Given the description of an element on the screen output the (x, y) to click on. 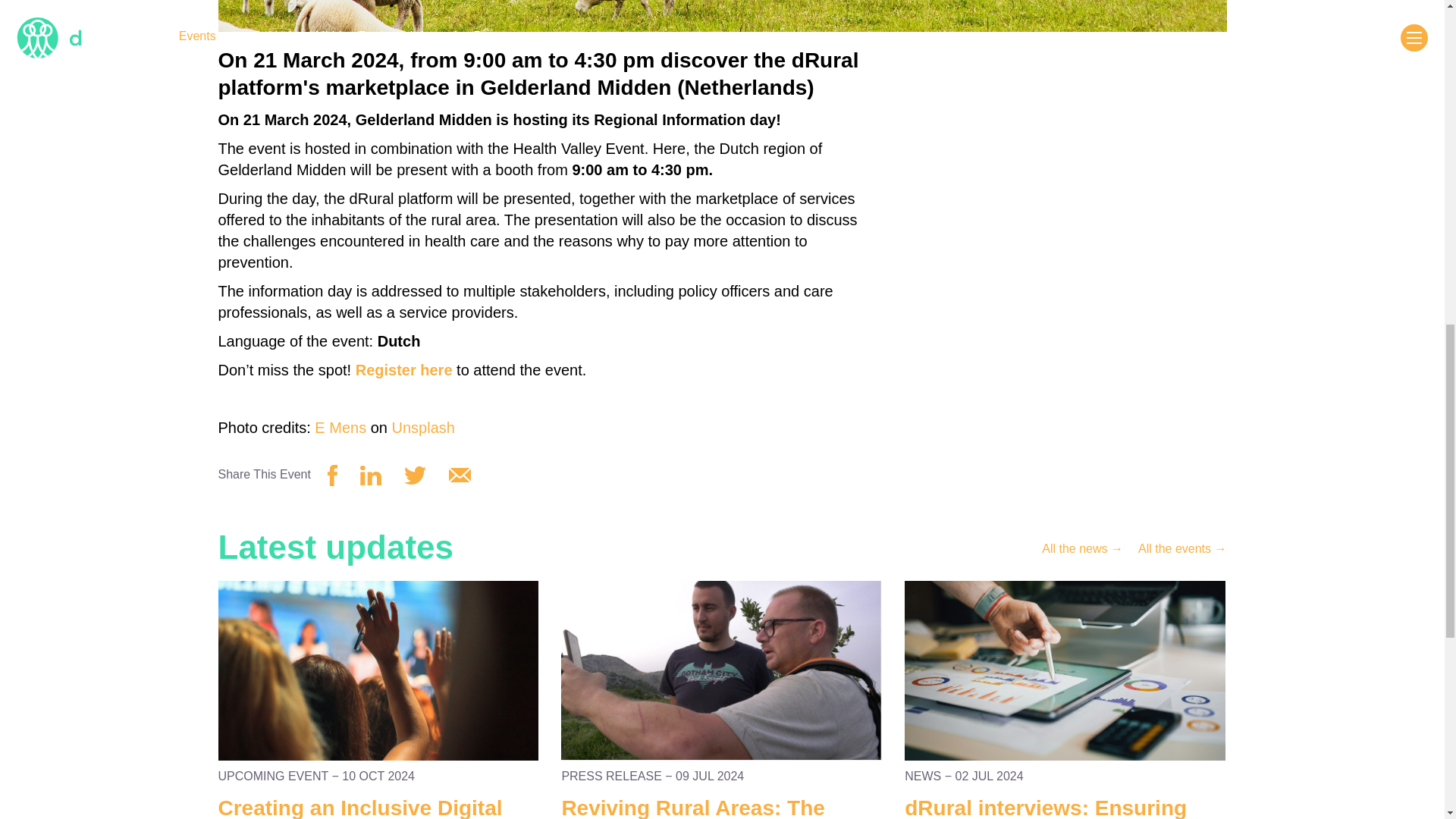
Twitter (415, 477)
email (459, 474)
email (459, 477)
News (1082, 548)
Register here (403, 369)
Unsplash (422, 427)
E Mens (340, 427)
Twitter (415, 475)
Events (1182, 548)
LinkedIn (370, 475)
